Given the description of an element on the screen output the (x, y) to click on. 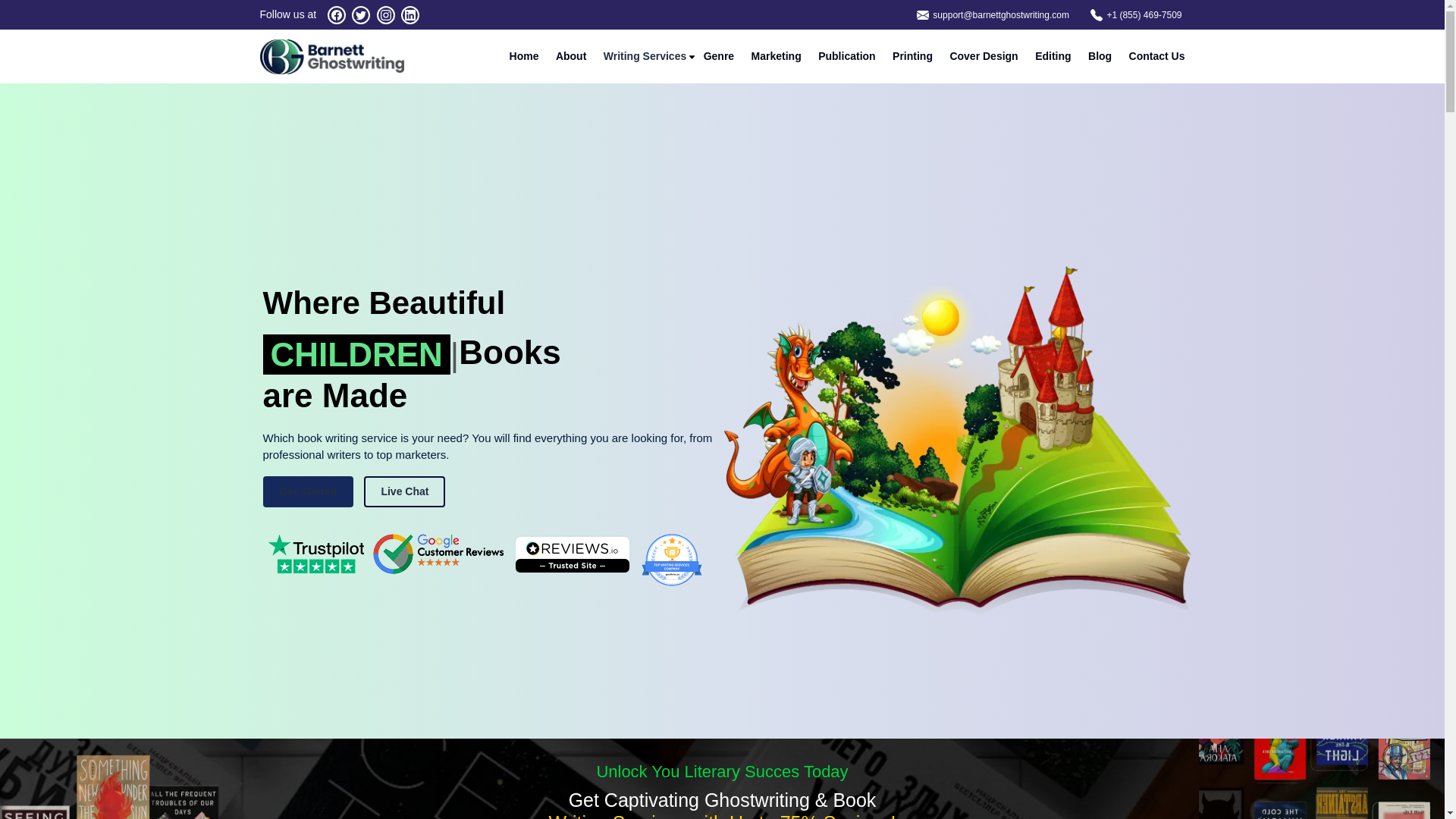
Marketing (776, 56)
Cover Design (983, 56)
Contact Us (1157, 56)
Publication (846, 56)
Live Chat (404, 490)
 Company (671, 559)
Writing Services (644, 56)
Get Started (307, 491)
